Given the description of an element on the screen output the (x, y) to click on. 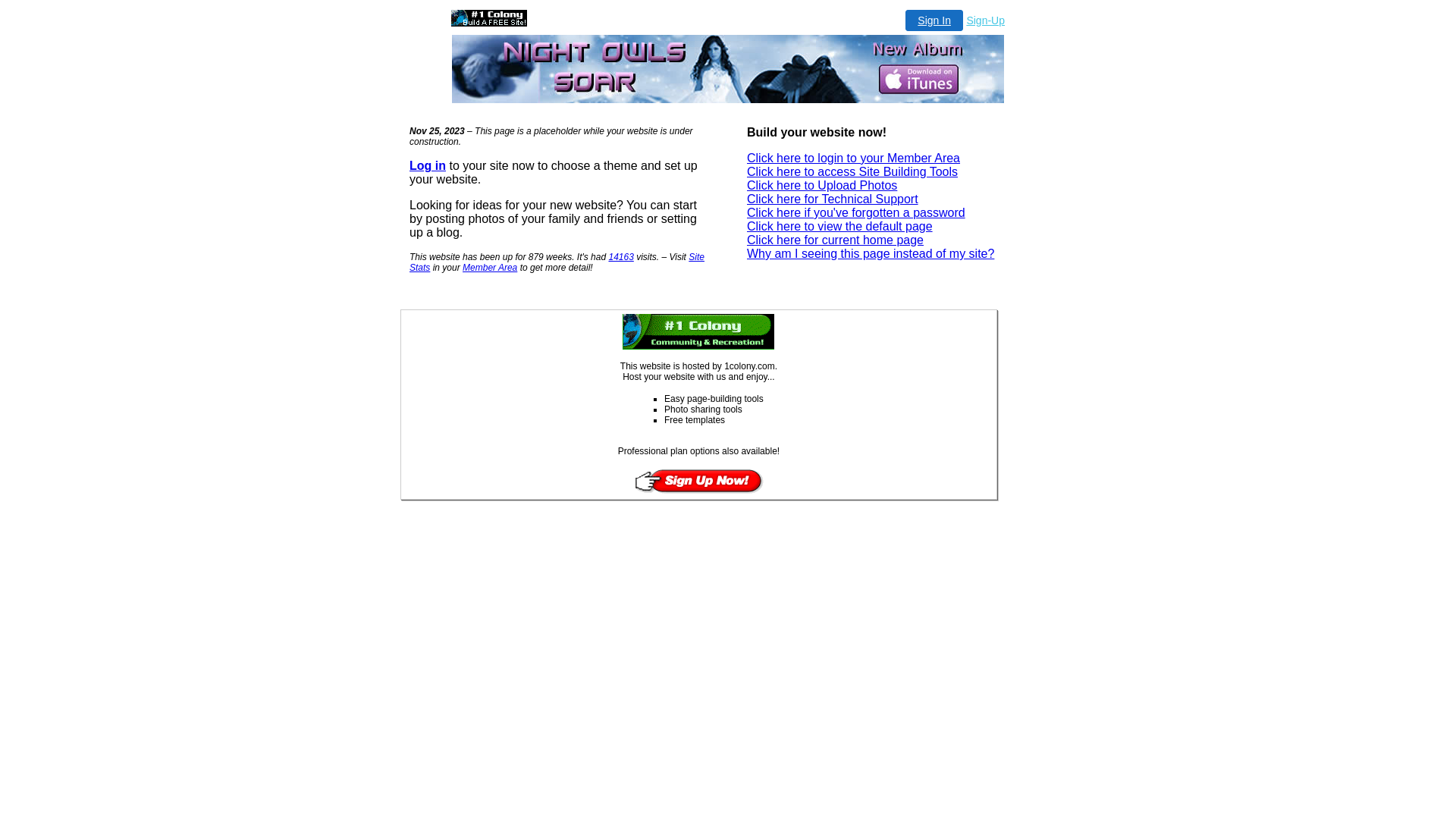
Click here to view the default page Element type: text (839, 225)
Click here to Upload Photos Element type: text (821, 184)
Click here for Technical Support Element type: text (832, 198)
Click here to login to your Member Area Element type: text (853, 157)
14163 Element type: text (620, 256)
Why am I seeing this page instead of my site? Element type: text (870, 253)
Member Area Element type: text (489, 267)
Click here if you've forgotten a password Element type: text (855, 212)
Log in Element type: text (427, 165)
Click here for current home page Element type: text (834, 239)
Sign In Element type: text (934, 20)
Click here to access Site Building Tools Element type: text (851, 171)
Site Stats Element type: text (556, 262)
Sign-Up Element type: text (985, 20)
